Given the description of an element on the screen output the (x, y) to click on. 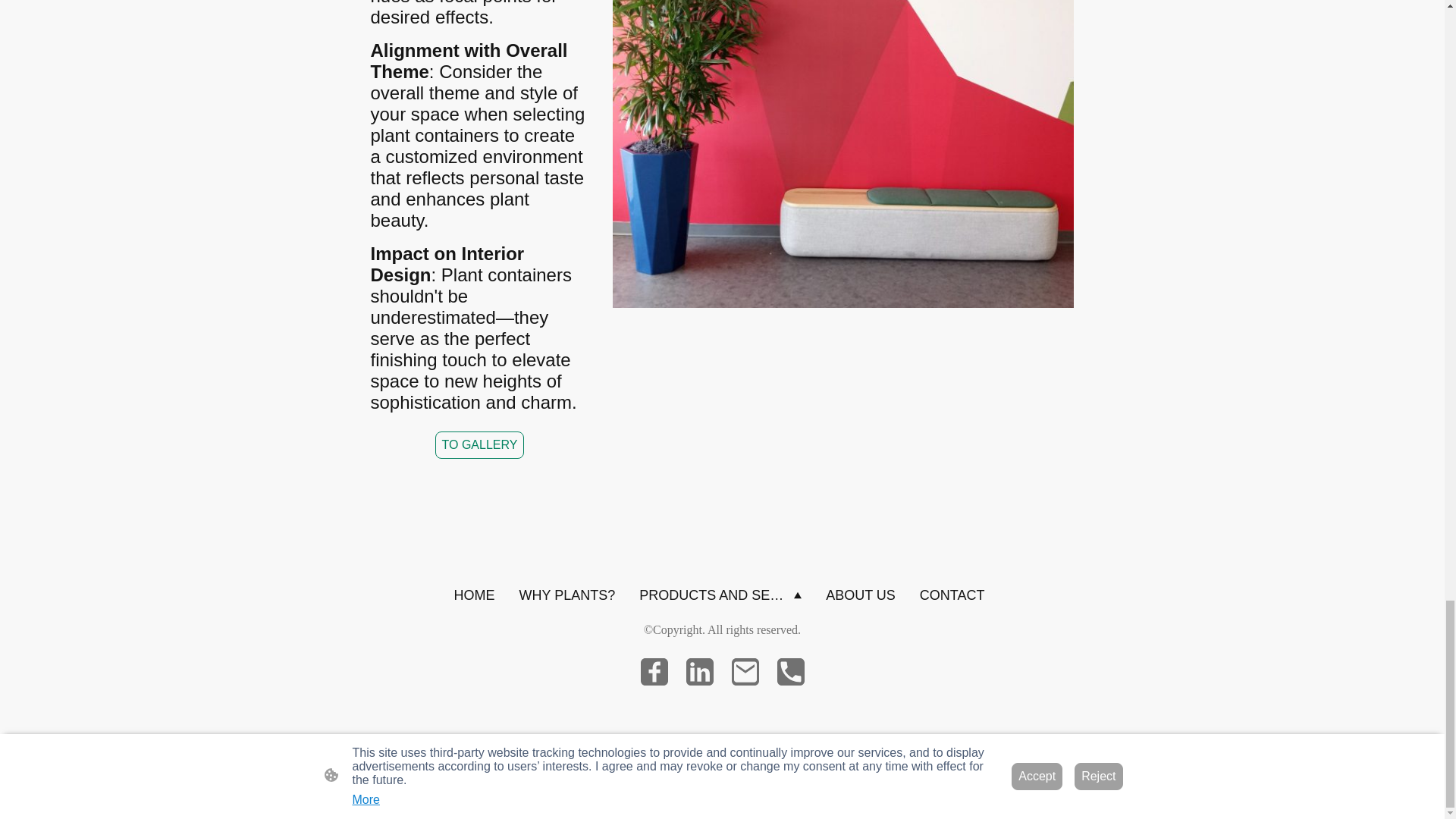
PRODUCTS AND SERVICES (720, 595)
CONTACT (952, 595)
TO GALLERY (479, 444)
HOME (473, 595)
WHY PLANTS? (567, 595)
ABOUT US (860, 595)
